Given the description of an element on the screen output the (x, y) to click on. 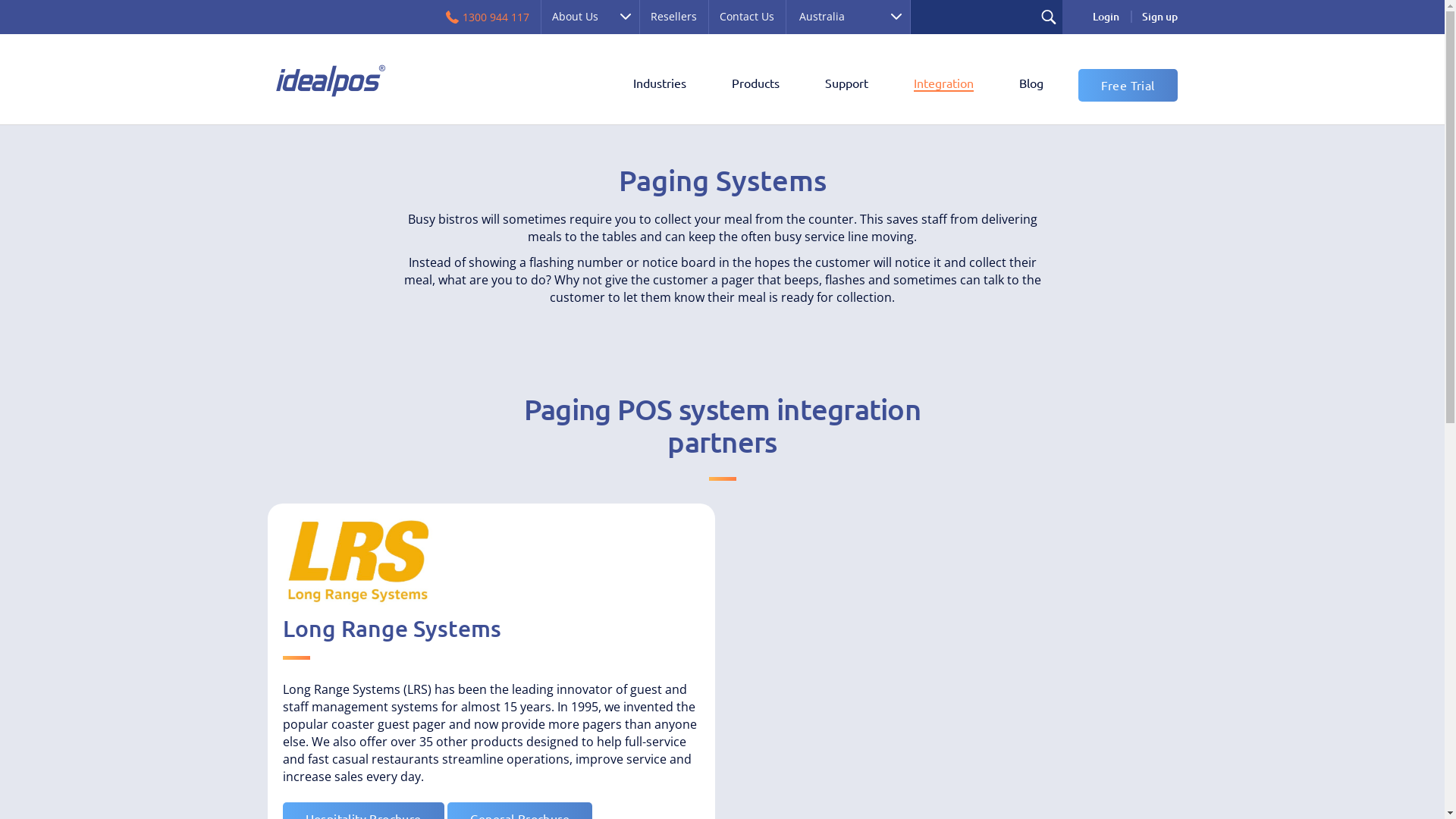
Industries Element type: text (658, 84)
Login Element type: text (1105, 16)
Support Element type: text (846, 84)
About Us Element type: text (588, 17)
Sign up Element type: text (1158, 16)
Resellers Element type: text (672, 17)
Blog Element type: text (1031, 84)
Integration Element type: text (942, 84)
Search Element type: text (1047, 17)
1300 944 117 Element type: text (487, 17)
Free Trial Element type: text (1127, 85)
Australia Element type: text (847, 17)
idealPos Element type: text (329, 80)
Products Element type: text (754, 84)
Contact Us Element type: text (746, 17)
